Given the description of an element on the screen output the (x, y) to click on. 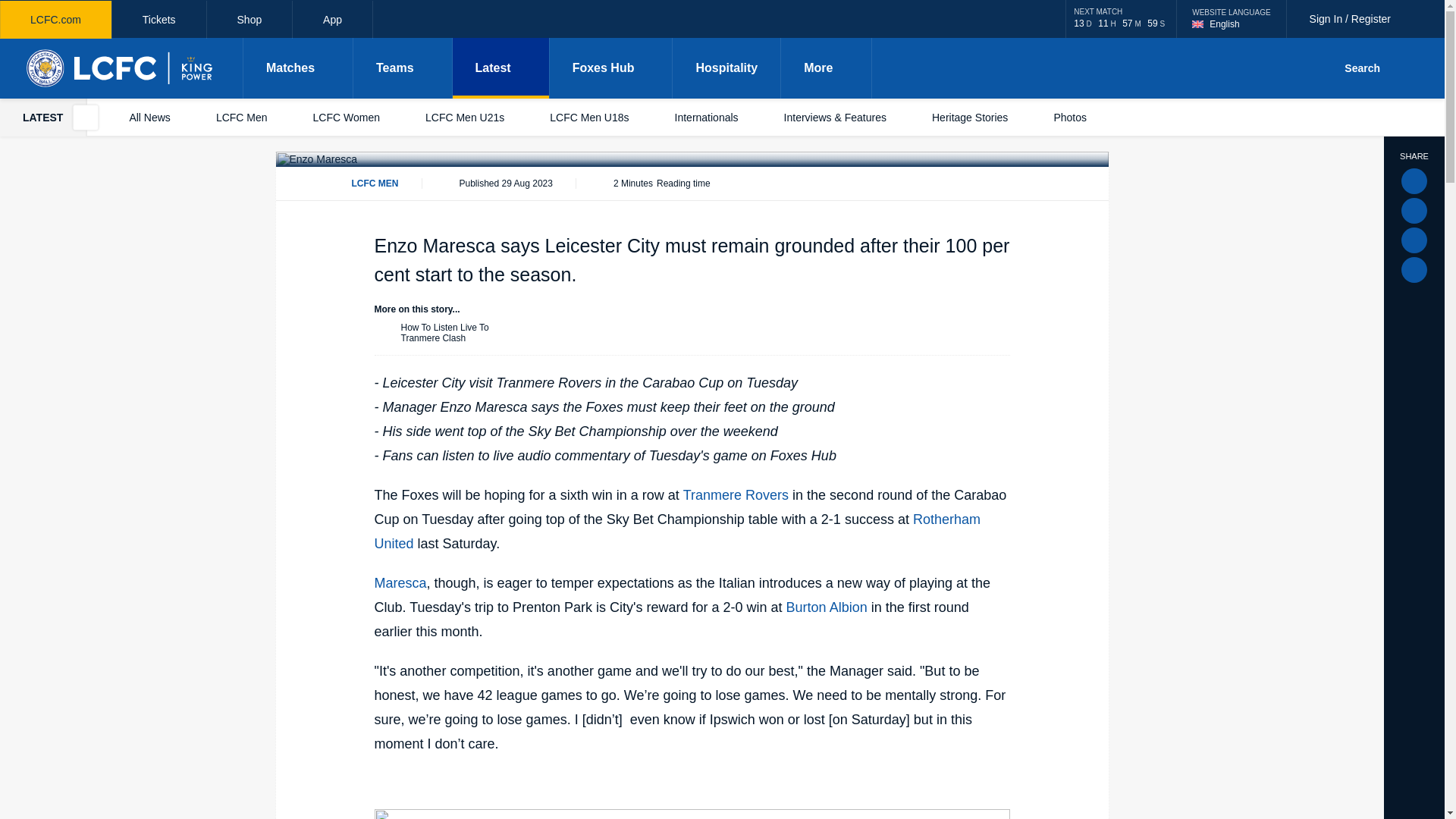
Tickets (159, 19)
Hospitality (726, 67)
LCFC.com (56, 19)
Shop (249, 19)
Home (1230, 18)
App (121, 67)
